Given the description of an element on the screen output the (x, y) to click on. 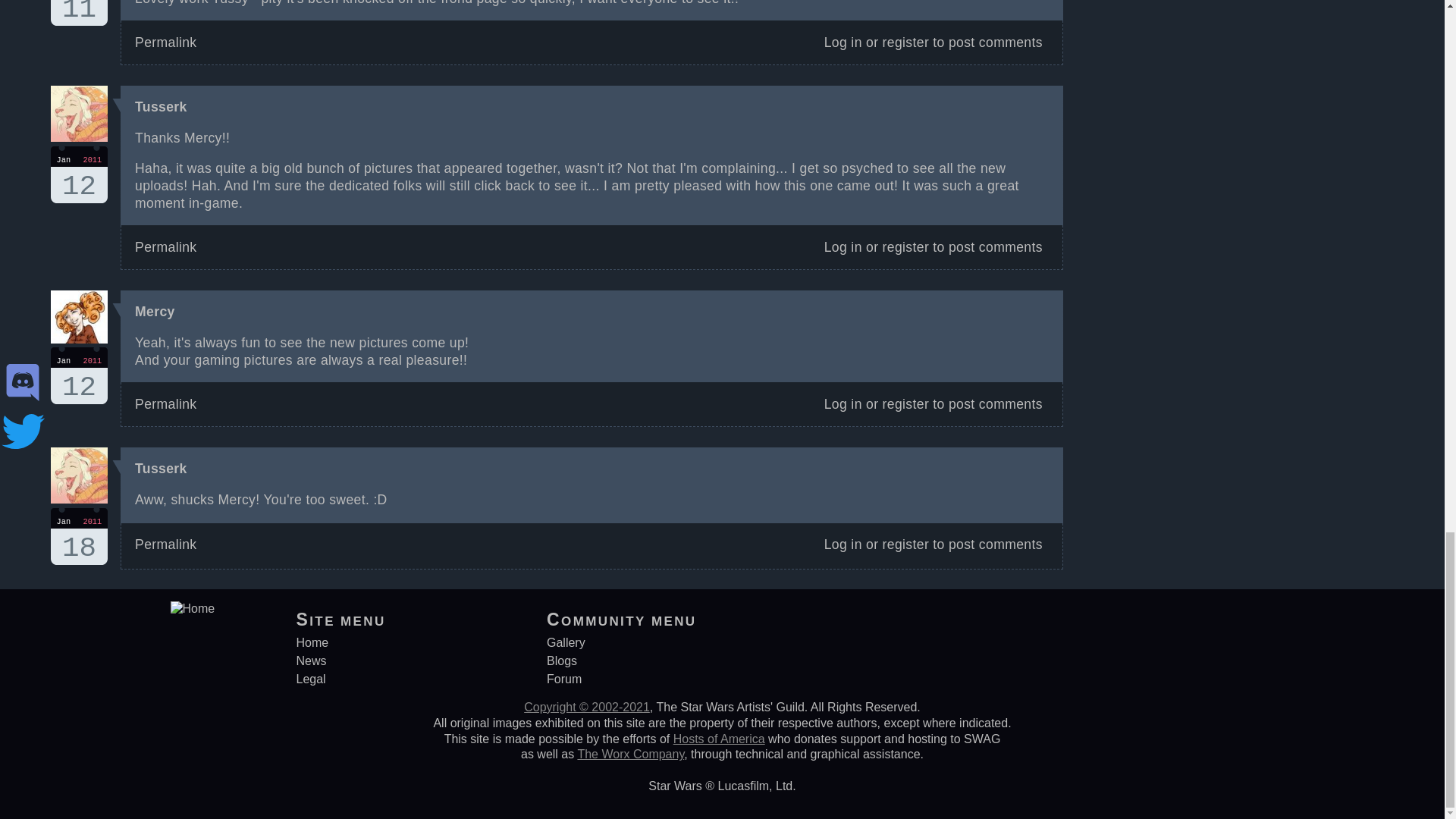
Log in (842, 246)
View user profile. (154, 311)
View user profile. (161, 468)
register (905, 42)
Permalink (78, 12)
register (78, 375)
Permalink (165, 42)
View user profile. (905, 246)
